Given the description of an element on the screen output the (x, y) to click on. 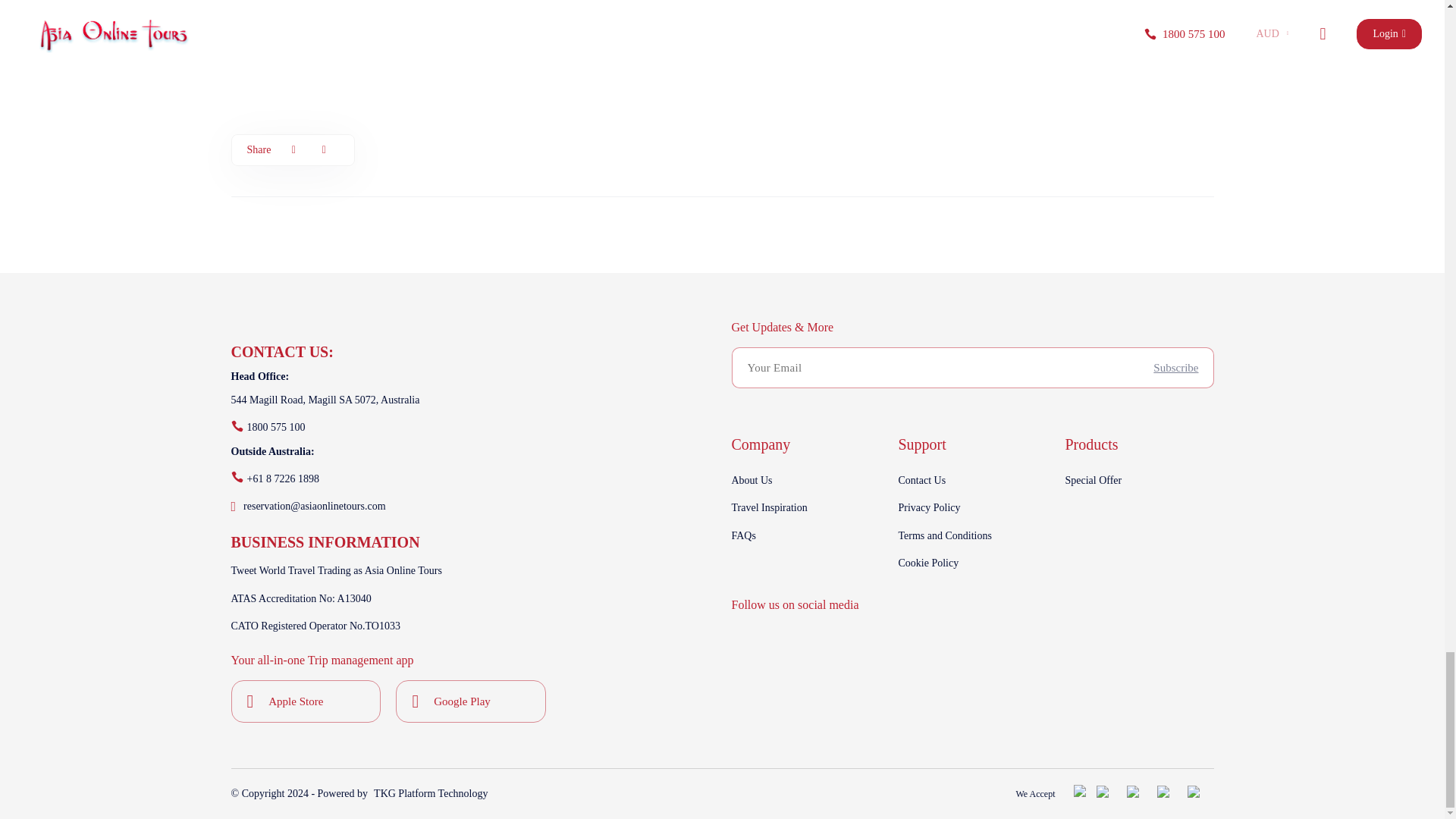
About Us (804, 480)
Explore The Hidden Gems Of Quang Ninh With Asia Online Tours (430, 51)
Google Play (461, 701)
Travel Inspiration (804, 507)
Subscribe (1175, 367)
Apple Store (295, 701)
Contact Us (972, 480)
FAQs (804, 535)
1800 575 100 (276, 427)
